Given the description of an element on the screen output the (x, y) to click on. 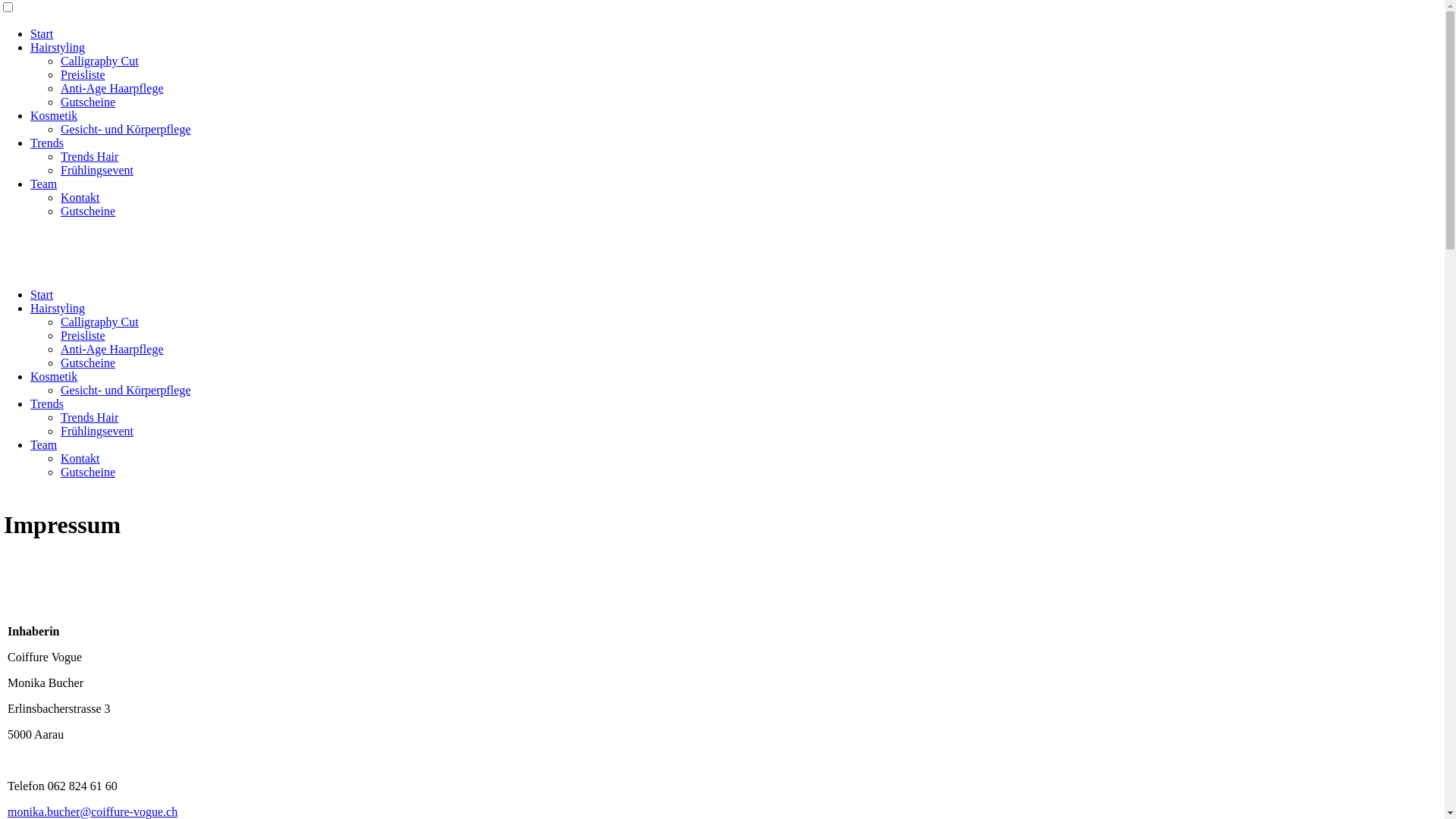
Gutscheine Element type: text (87, 210)
Kosmetik Element type: text (53, 376)
Kosmetik Element type: text (53, 115)
Anti-Age Haarpflege Element type: text (111, 348)
Start Element type: text (41, 33)
Hairstyling Element type: text (57, 307)
Hairstyling Element type: text (57, 46)
Trends Hair Element type: text (89, 417)
Trends Hair Element type: text (89, 156)
Start Element type: text (41, 294)
Calligraphy Cut Element type: text (99, 60)
Preisliste Element type: text (82, 74)
Kontakt Element type: text (80, 197)
Preisliste Element type: text (82, 335)
Gutscheine Element type: text (87, 471)
Anti-Age Haarpflege Element type: text (111, 87)
Gutscheine Element type: text (87, 362)
Team Element type: text (43, 183)
Kontakt Element type: text (80, 457)
Trends Element type: text (46, 403)
monika.bucher@coiffure-vogue.ch Element type: text (92, 811)
Team Element type: text (43, 444)
Gutscheine Element type: text (87, 101)
Trends Element type: text (46, 142)
Calligraphy Cut Element type: text (99, 321)
